Given the description of an element on the screen output the (x, y) to click on. 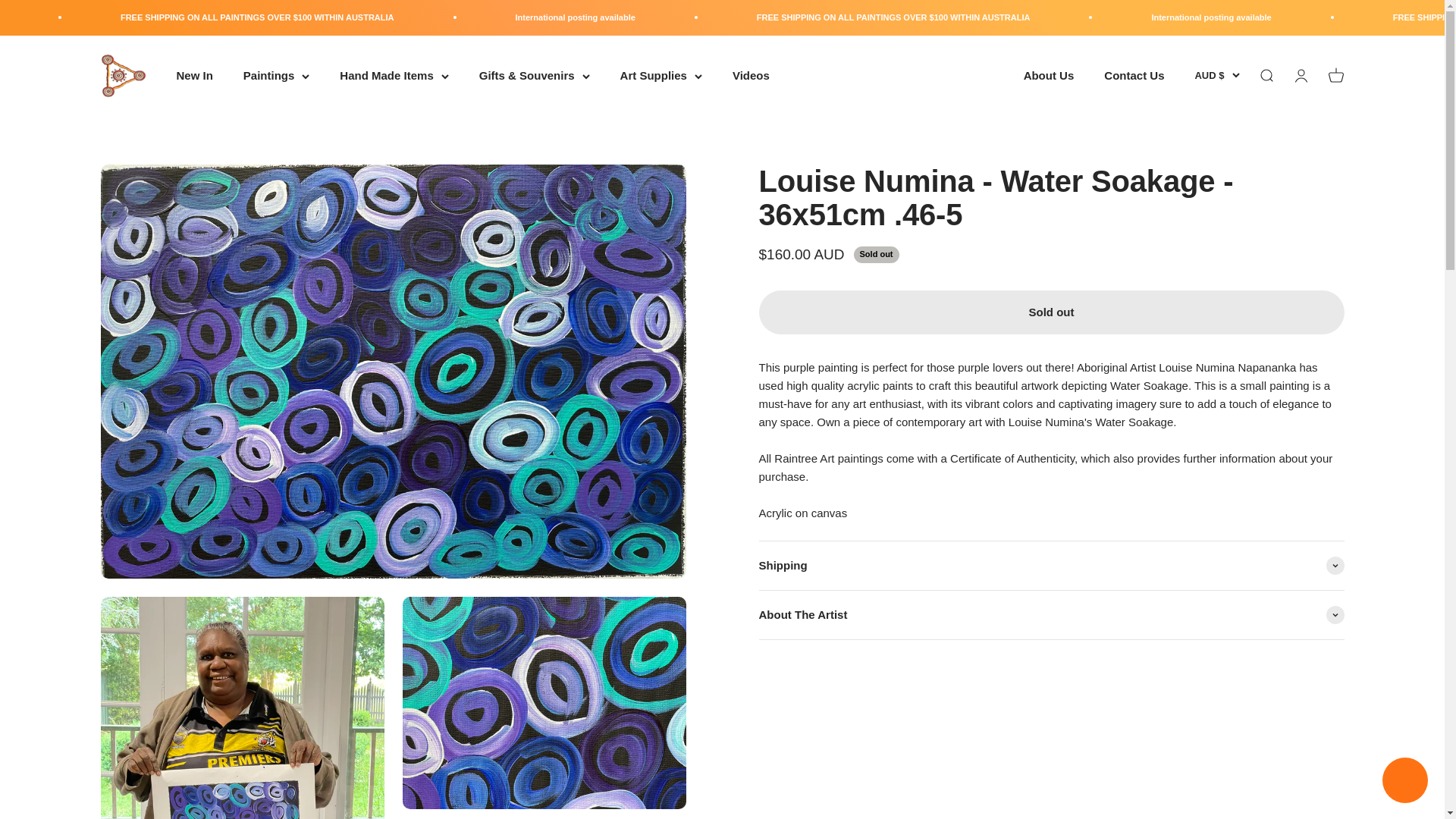
Shopify online store chat (1404, 781)
International posting available (119, 17)
International posting available (750, 17)
New In (194, 74)
